Given the description of an element on the screen output the (x, y) to click on. 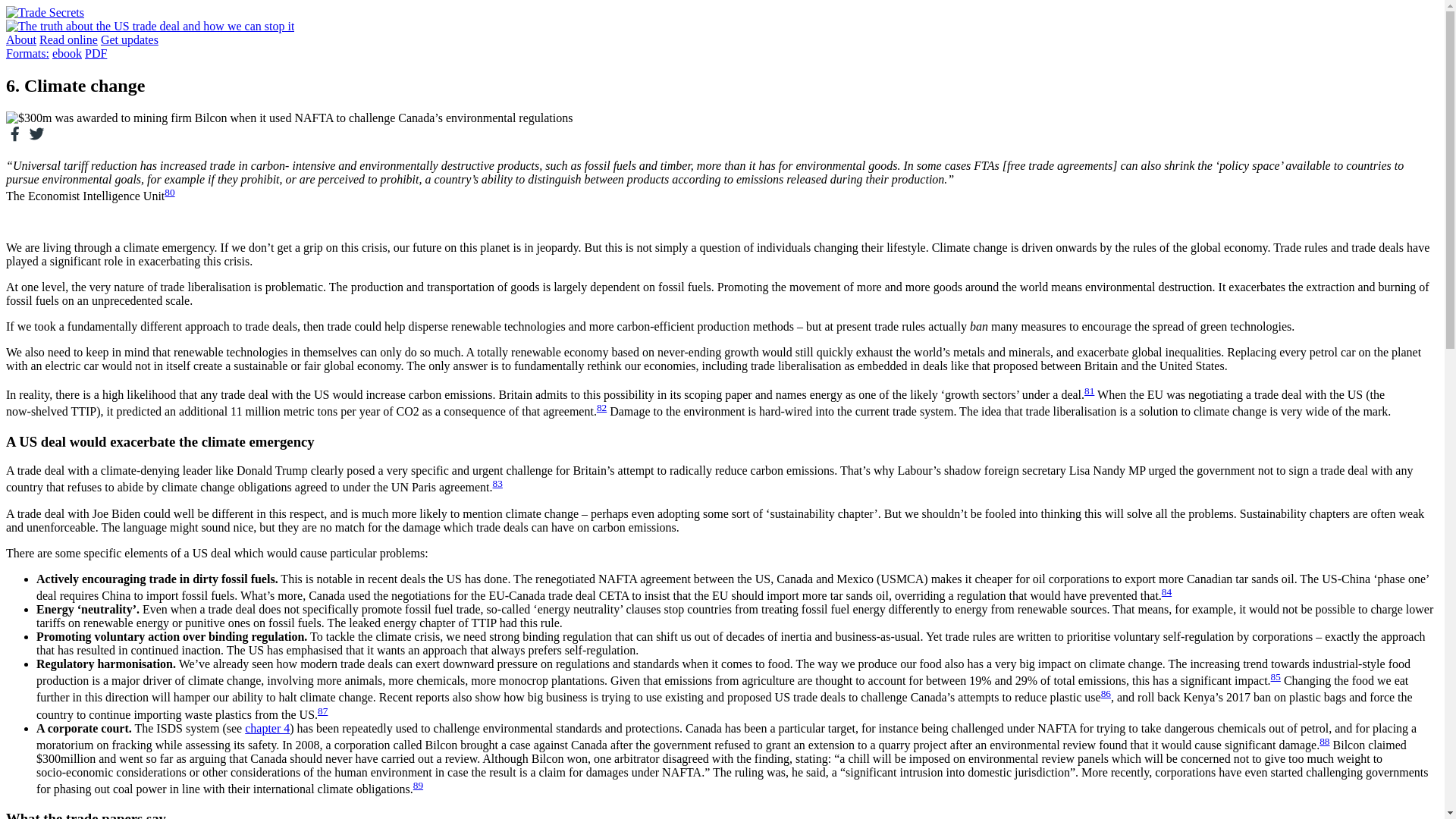
chapter 4 (266, 727)
PDF (95, 52)
Read online (68, 39)
ebook (66, 52)
Formats: (27, 52)
About (20, 39)
Get updates (129, 39)
